Given the description of an element on the screen output the (x, y) to click on. 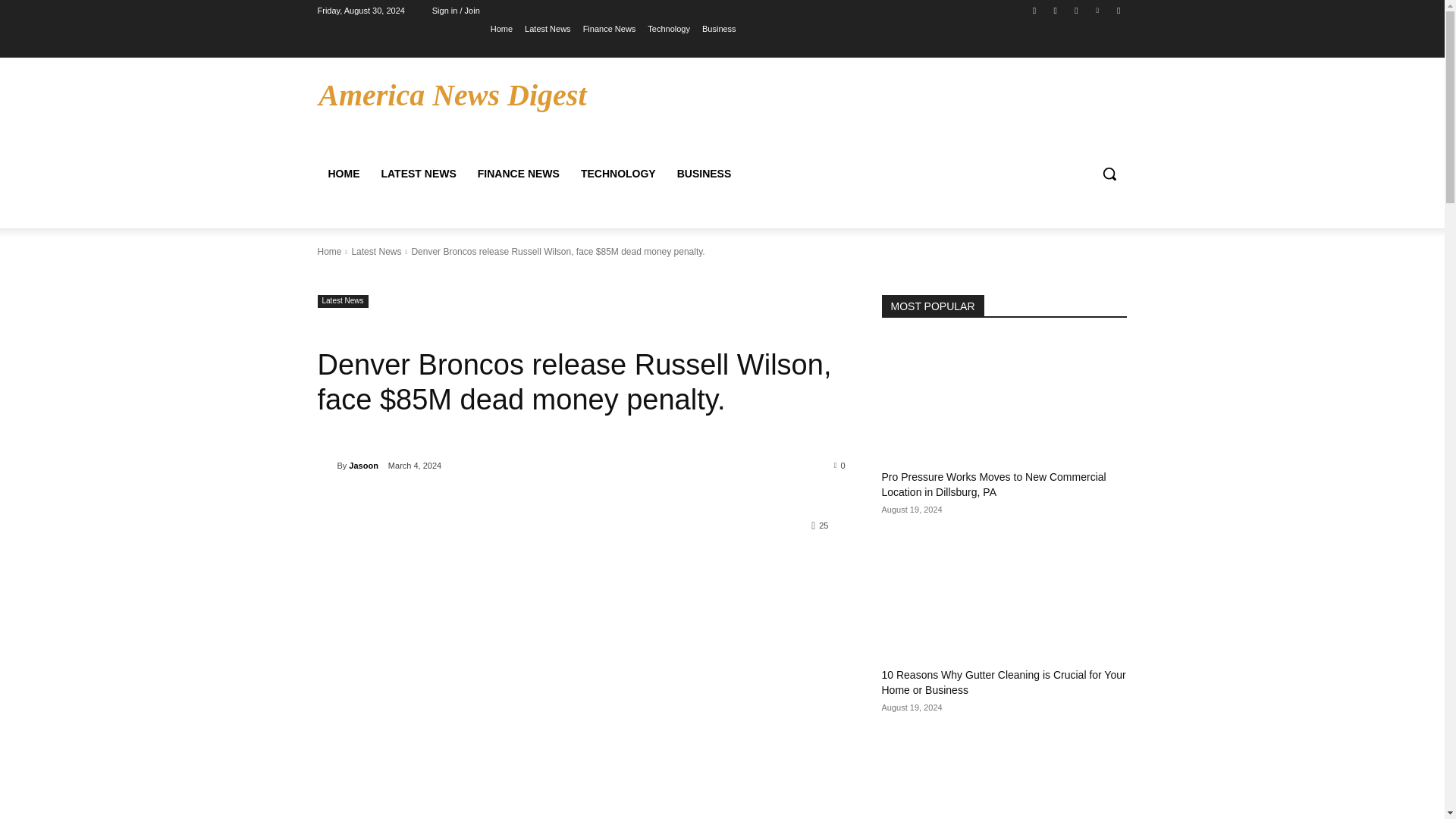
Home (328, 251)
HOME (343, 173)
LATEST NEWS (417, 173)
Latest News (375, 251)
Jasoon (326, 465)
Latest News (547, 28)
Youtube (1117, 9)
Finance News (609, 28)
Vimeo (1097, 9)
0 (839, 464)
